Given the description of an element on the screen output the (x, y) to click on. 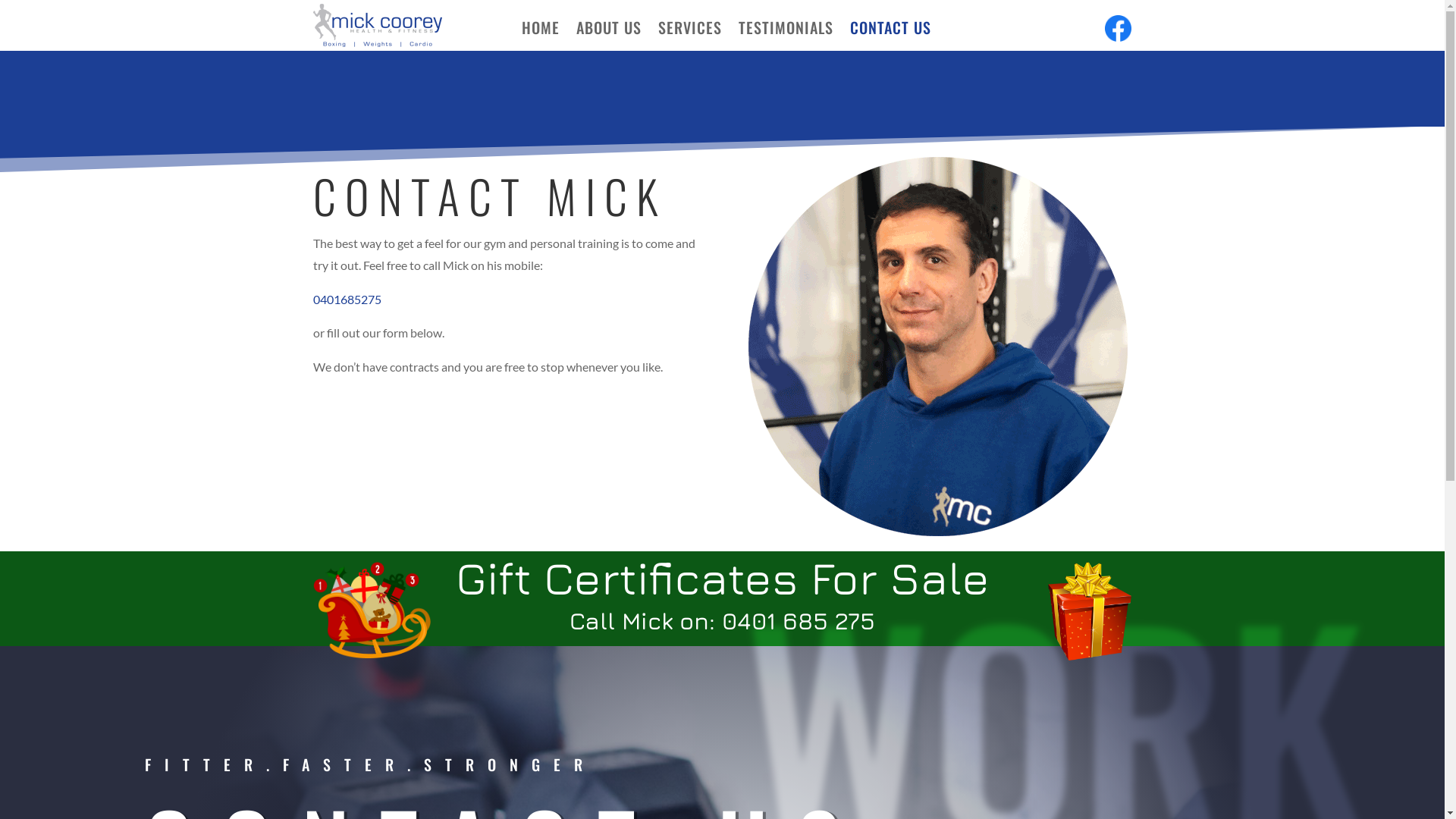
TESTIMONIALS Element type: text (785, 30)
ABOUT US Element type: text (608, 30)
0401685275 Element type: text (346, 298)
CONTACT US Element type: text (890, 30)
HOME Element type: text (540, 30)
204-2047457_christmas-presents Element type: hover (370, 609)
f_logo_RGB-Hex-Blue_512 Element type: hover (1117, 28)
Mick-Coorey-500px Element type: hover (937, 346)
mick-coorey-logo-170x57 Element type: hover (376, 25)
408-4080095_present Element type: hover (1090, 610)
SERVICES Element type: text (689, 30)
